Given the description of an element on the screen output the (x, y) to click on. 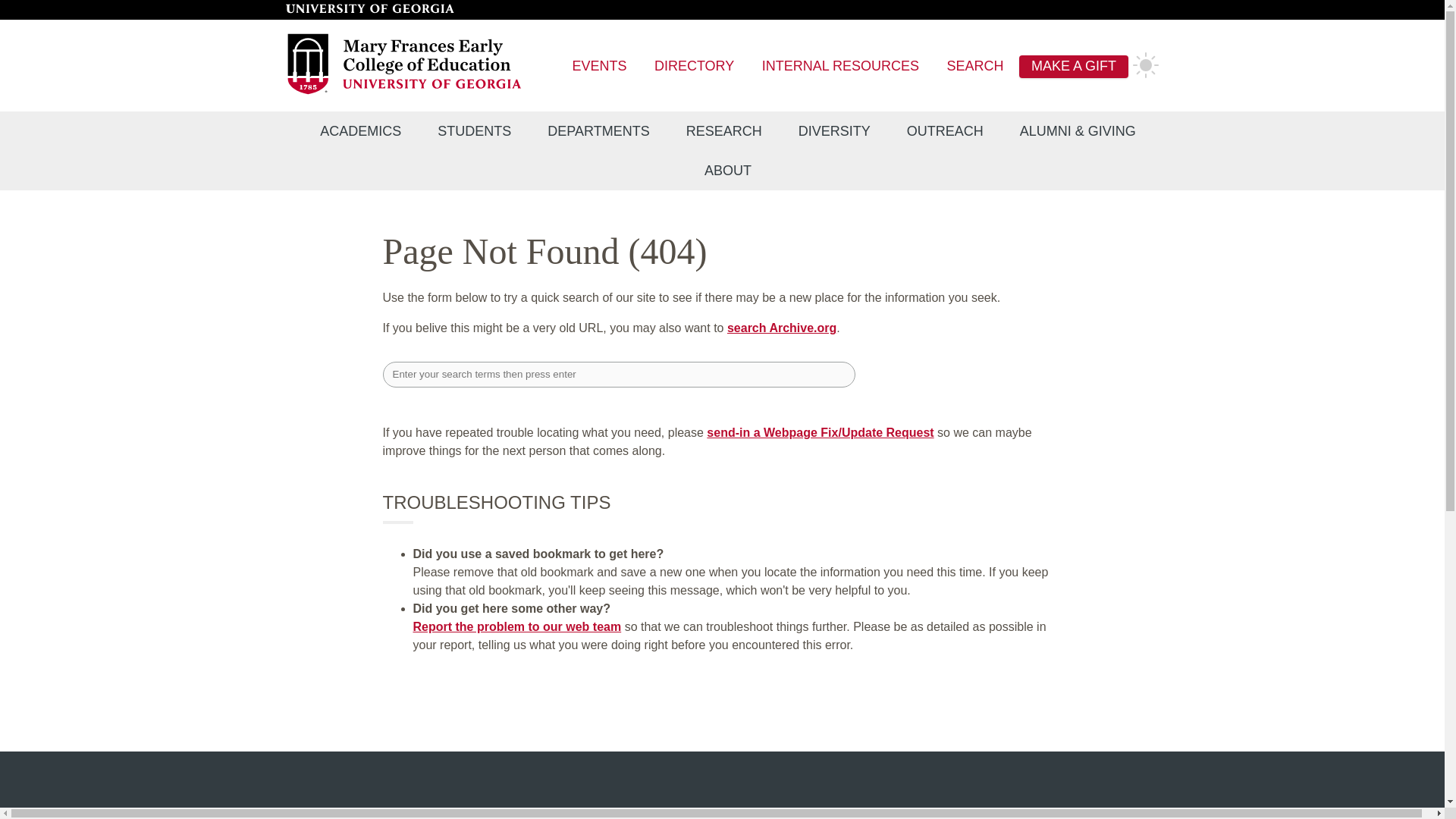
DEPARTMENTS (597, 131)
STUDENTS (474, 131)
Mary Frances Early College of Education (404, 91)
MAKE A GIFT (1073, 66)
SEARCH (975, 66)
DIRECTORY (693, 66)
RESEARCH (724, 131)
INTERNAL RESOURCES (840, 66)
EVENTS (599, 66)
ACADEMICS (360, 131)
